Given the description of an element on the screen output the (x, y) to click on. 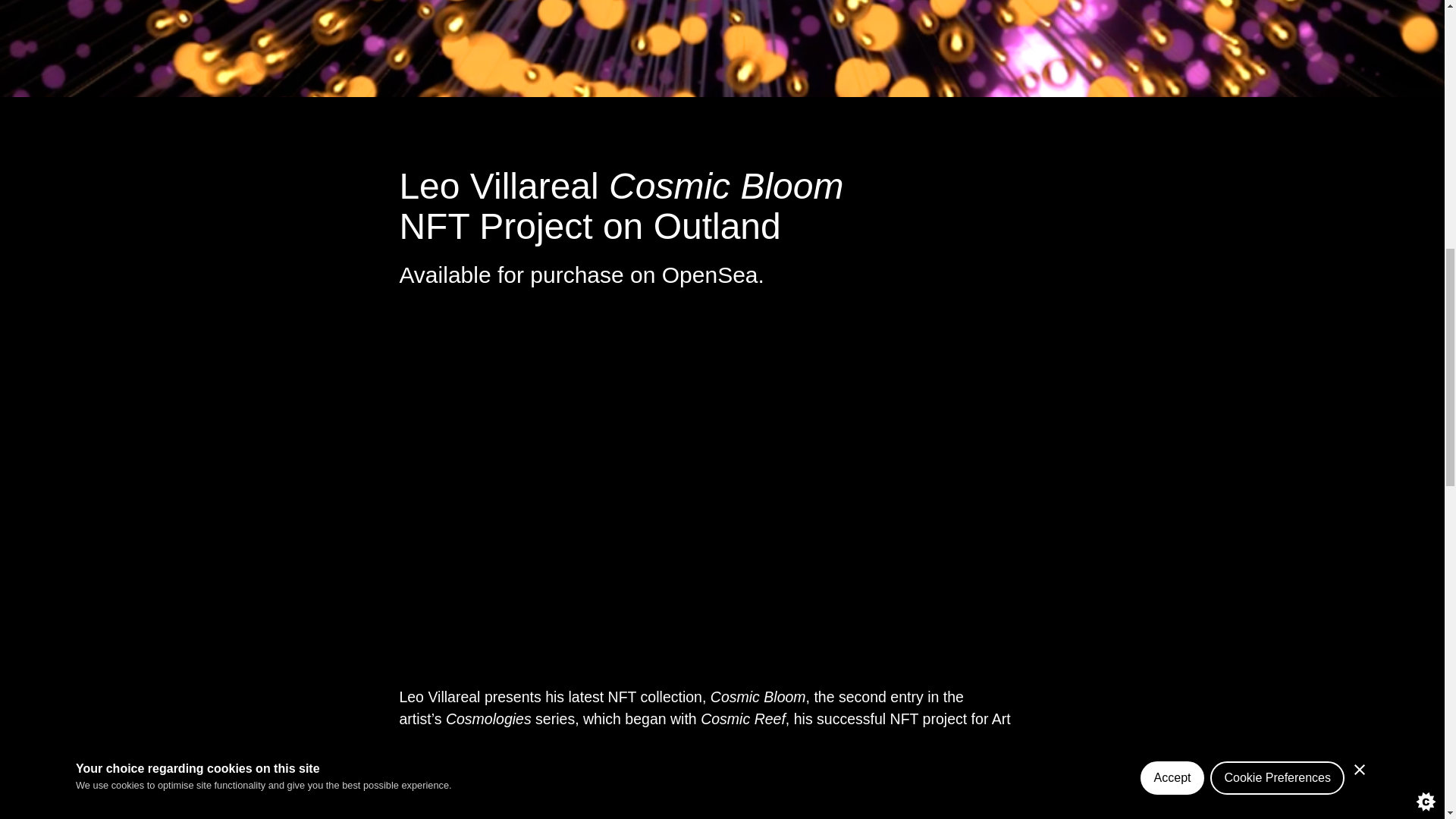
Interfaces: Leo Villareal (461, 315)
Outland (577, 315)
Vimeo (636, 315)
Available for purchase on OpenSea. (580, 274)
